Given the description of an element on the screen output the (x, y) to click on. 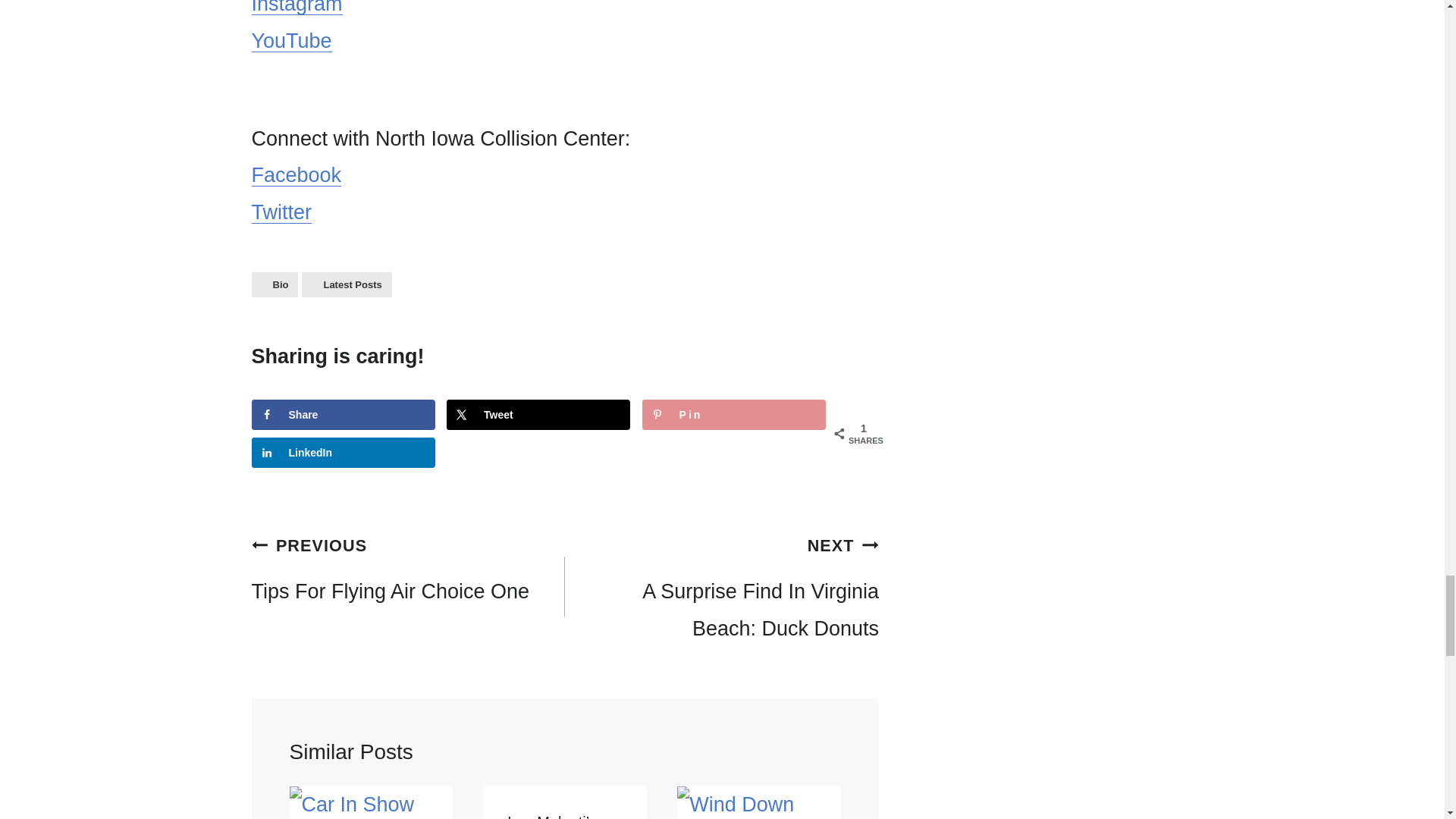
Share on X (538, 414)
Share on LinkedIn (343, 452)
Share on Facebook (343, 414)
Save to Pinterest (733, 414)
